Given the description of an element on the screen output the (x, y) to click on. 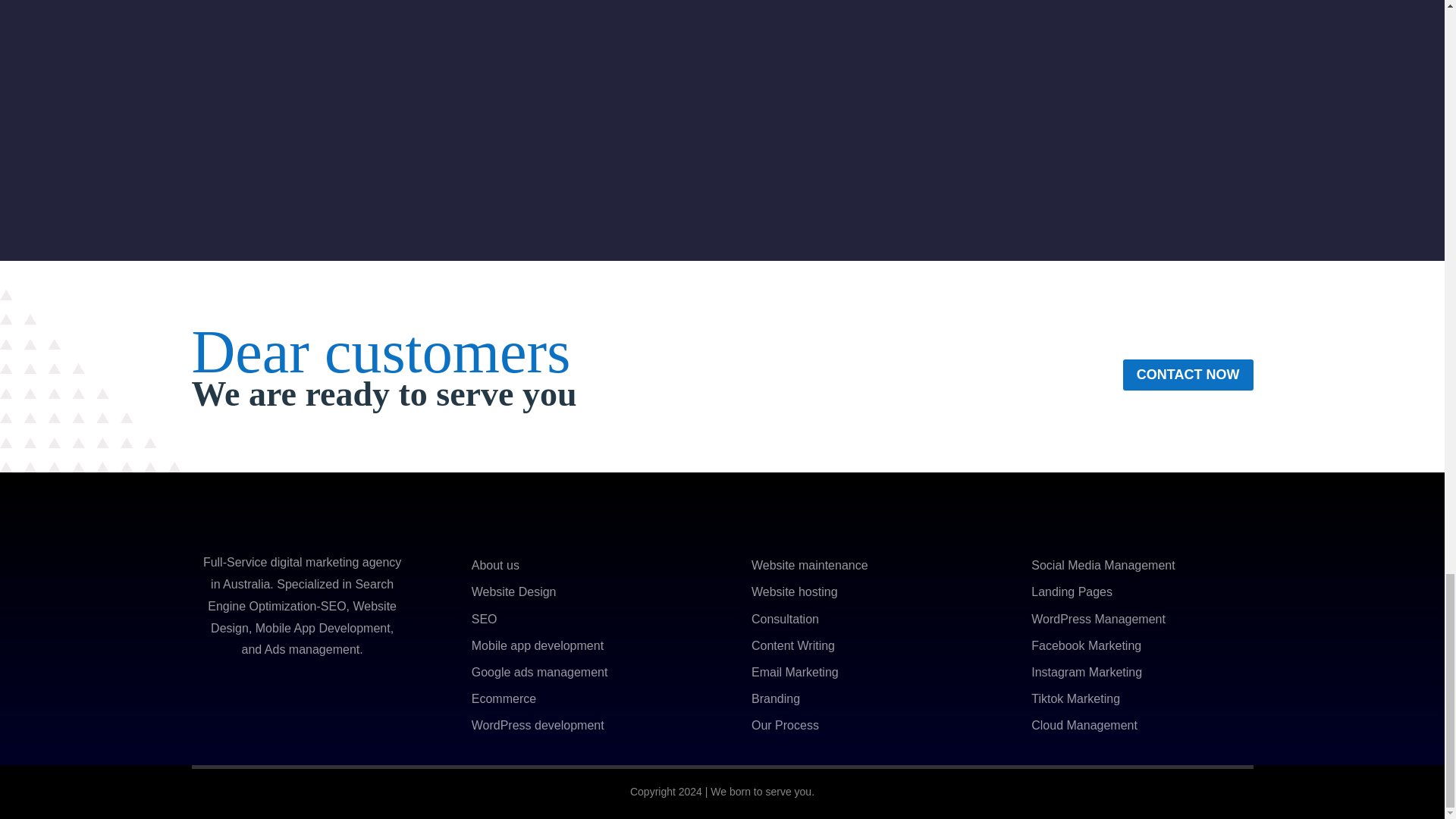
Google ads management (539, 671)
WordPress development (537, 725)
Ecommerce (503, 698)
SEO (484, 618)
Website Design (513, 591)
Mobile app development (537, 645)
CONTACT NOW (1187, 374)
About us (495, 564)
